Given the description of an element on the screen output the (x, y) to click on. 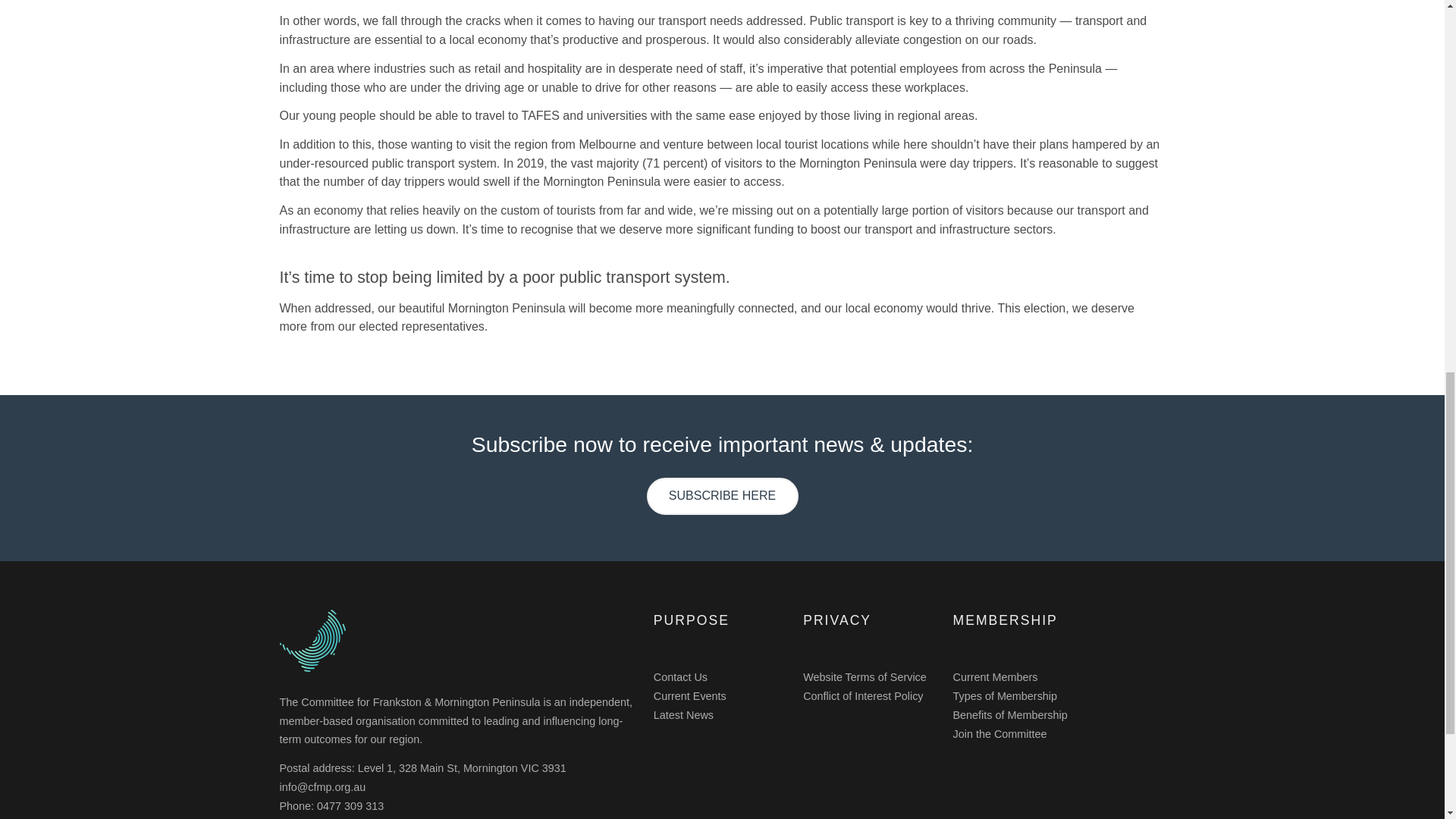
Current Members (994, 676)
Website Terms of Service (864, 676)
Contact Us (680, 676)
Conflict of Interest Policy (863, 695)
Current Events (689, 695)
Types of Membership (1004, 695)
SUBSCRIBE HERE (721, 496)
Latest News (683, 715)
